Given the description of an element on the screen output the (x, y) to click on. 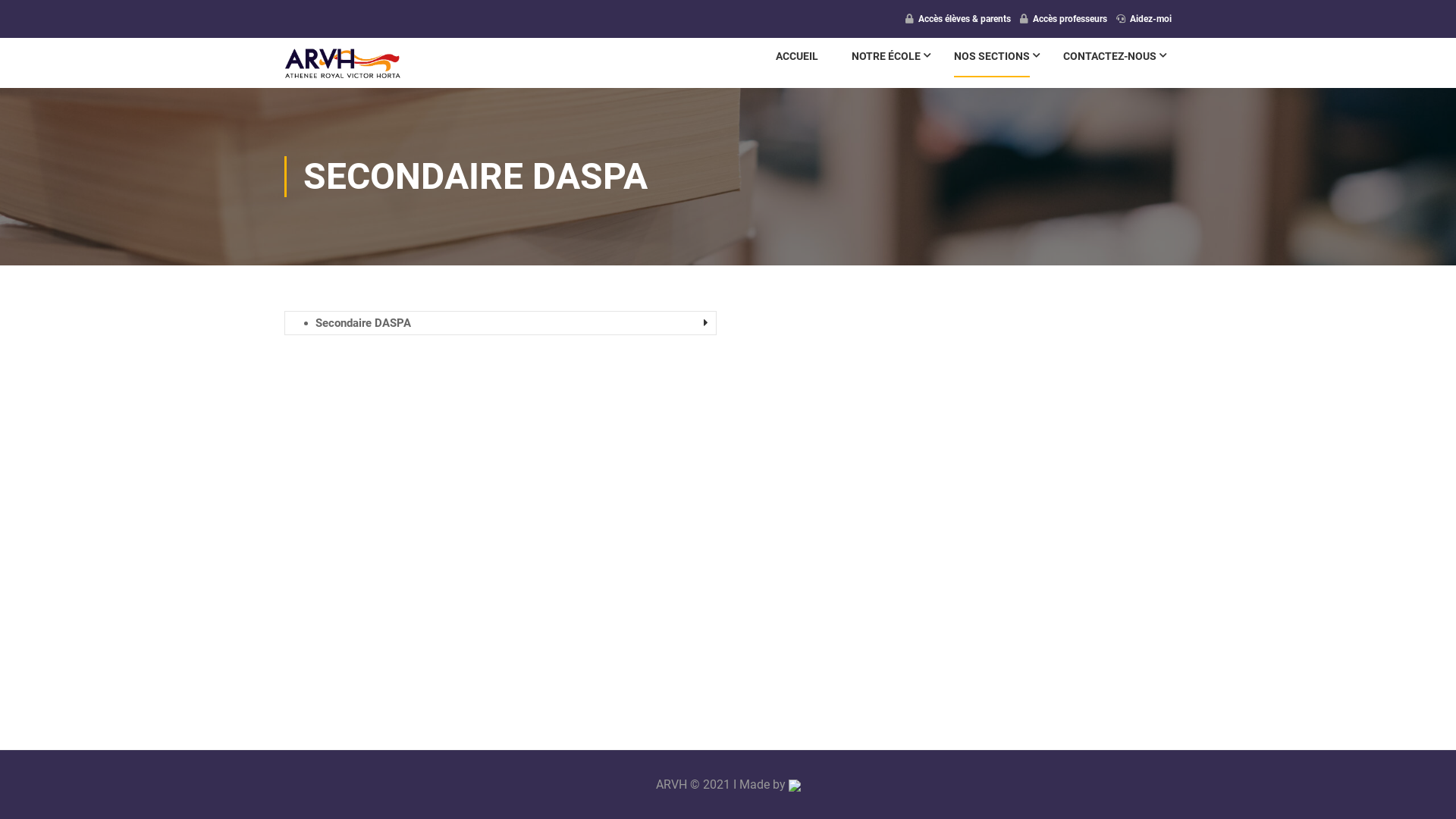
NOS SECTIONS Element type: text (991, 62)
CONTACTEZ-NOUS Element type: text (1109, 62)
Secondaire DASPA Element type: text (509, 322)
Aidez-moi Element type: text (1150, 18)
ACCUEIL Element type: text (796, 62)
